Given the description of an element on the screen output the (x, y) to click on. 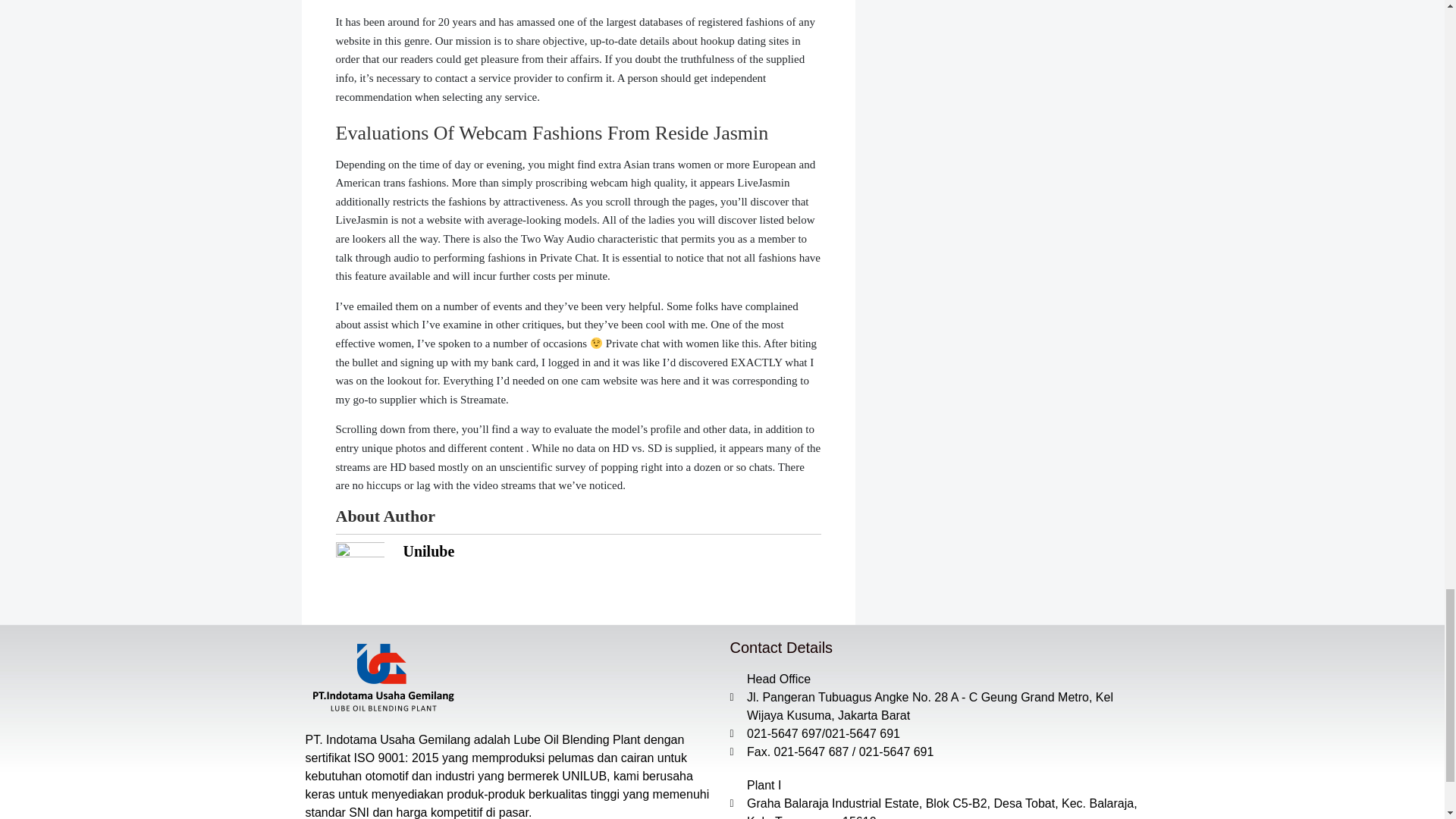
Logo IUG-ok (380, 677)
